Given the description of an element on the screen output the (x, y) to click on. 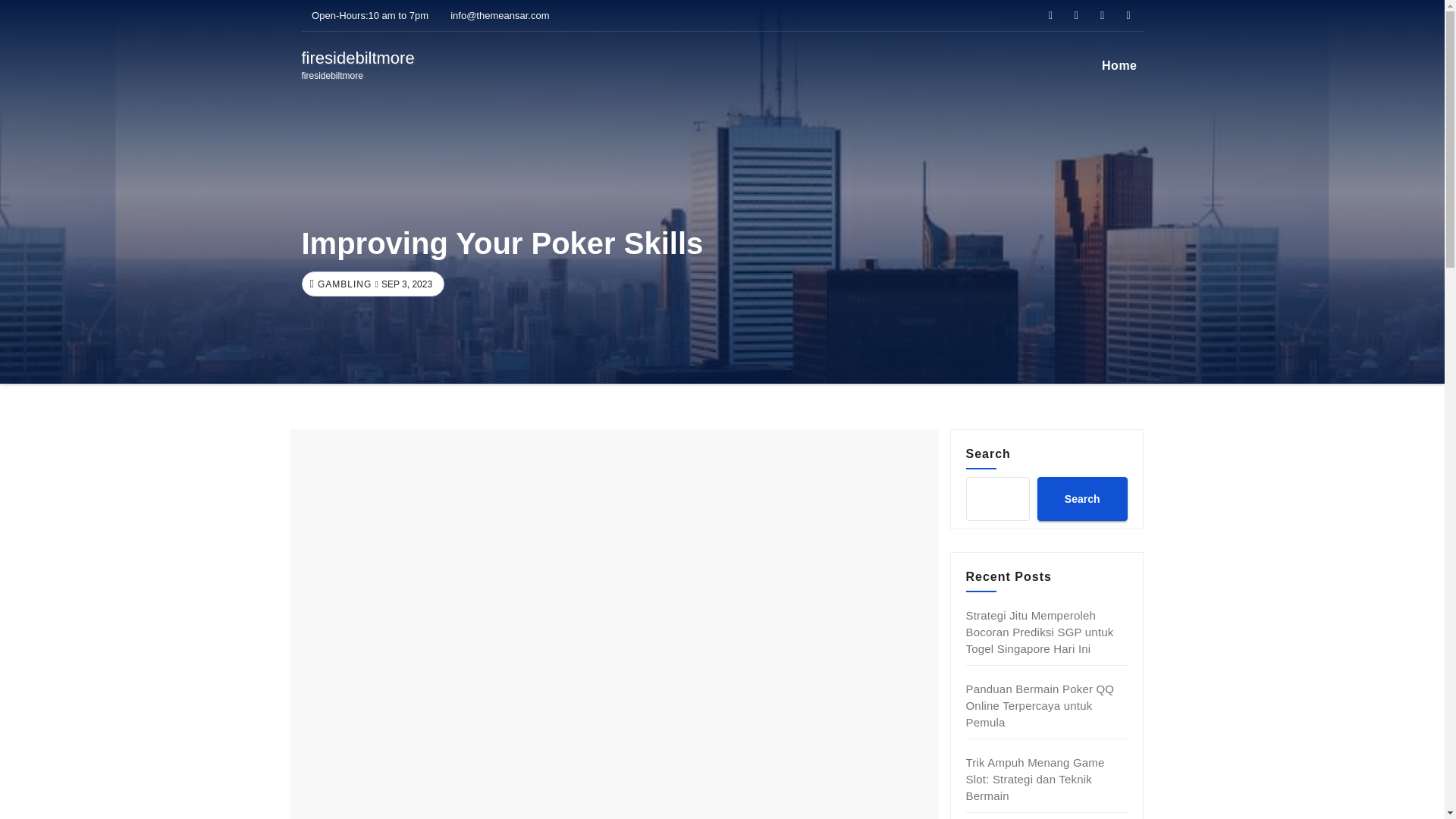
Panduan Bermain Poker QQ Online Terpercaya untuk Pemula (1040, 705)
GAMBLING (342, 284)
Open-Hours:10 am to 7pm (365, 15)
Search (1081, 498)
Trik Ampuh Menang Game Slot: Strategi dan Teknik Bermain (1035, 778)
